Given the description of an element on the screen output the (x, y) to click on. 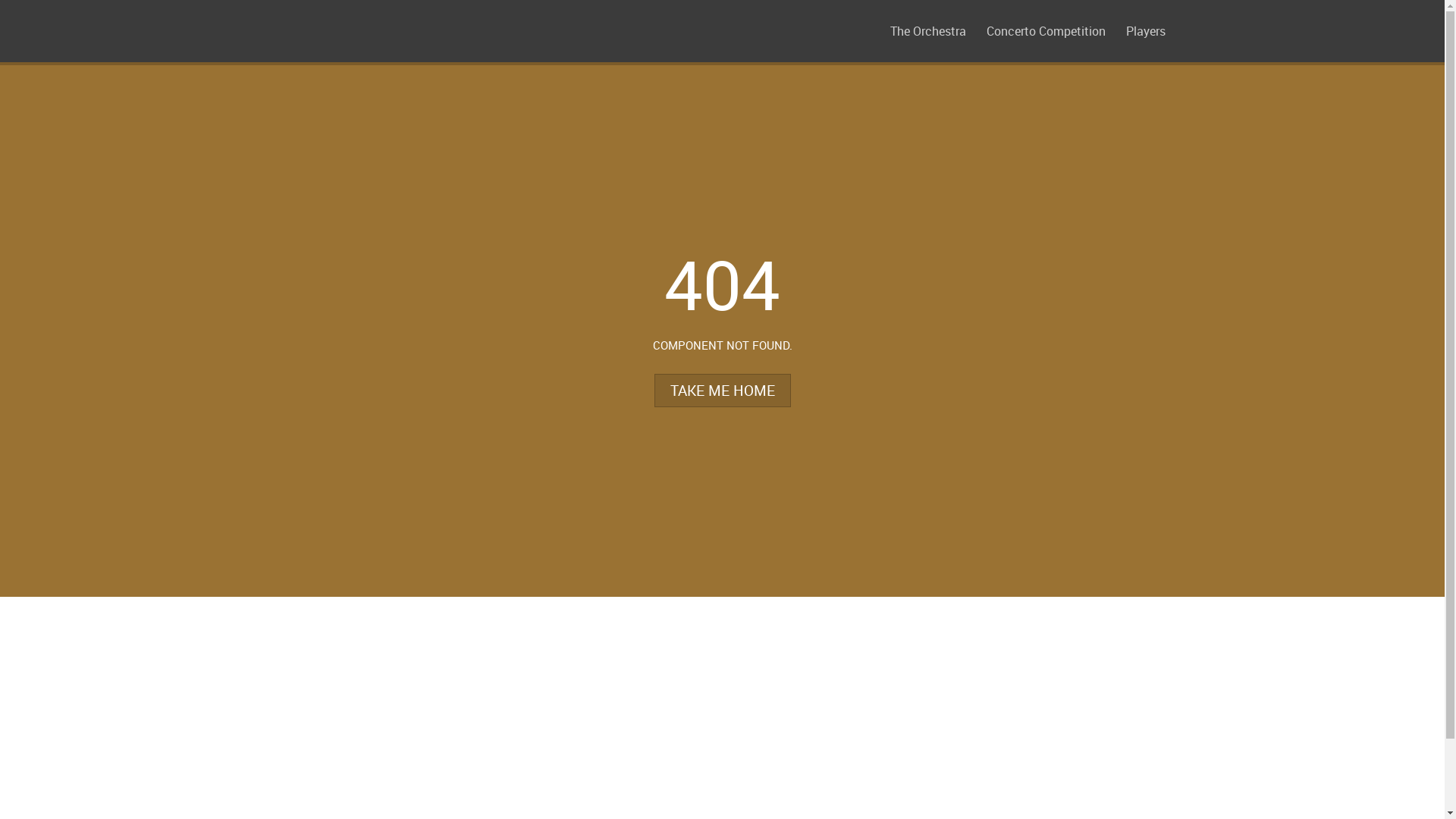
Players Element type: text (1144, 30)
The Orchestra Element type: text (927, 30)
Concerto Competition Element type: text (1045, 30)
TAKE ME HOME Element type: text (721, 390)
